Given the description of an element on the screen output the (x, y) to click on. 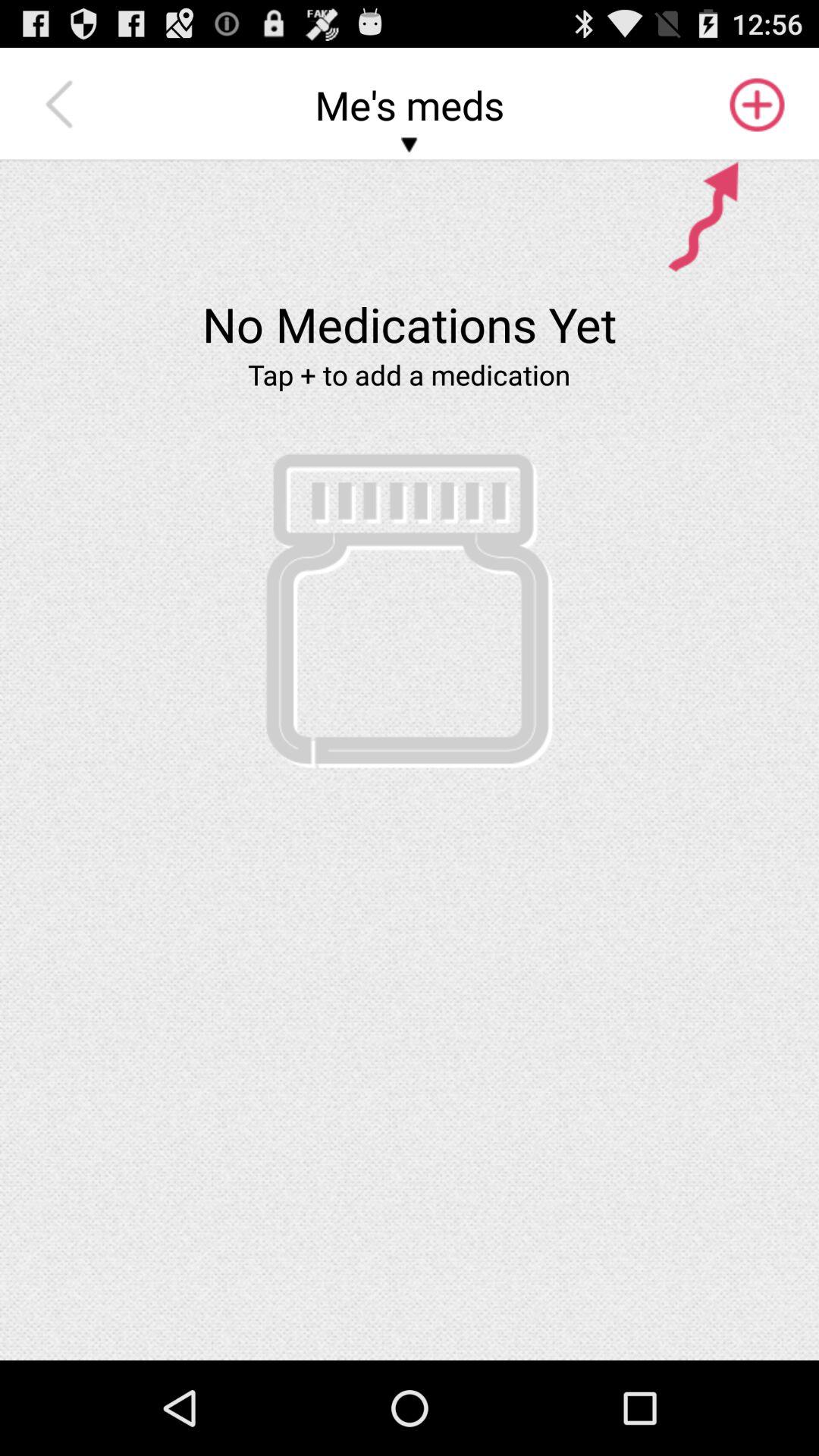
turn on the icon next to me's meds (63, 104)
